Given the description of an element on the screen output the (x, y) to click on. 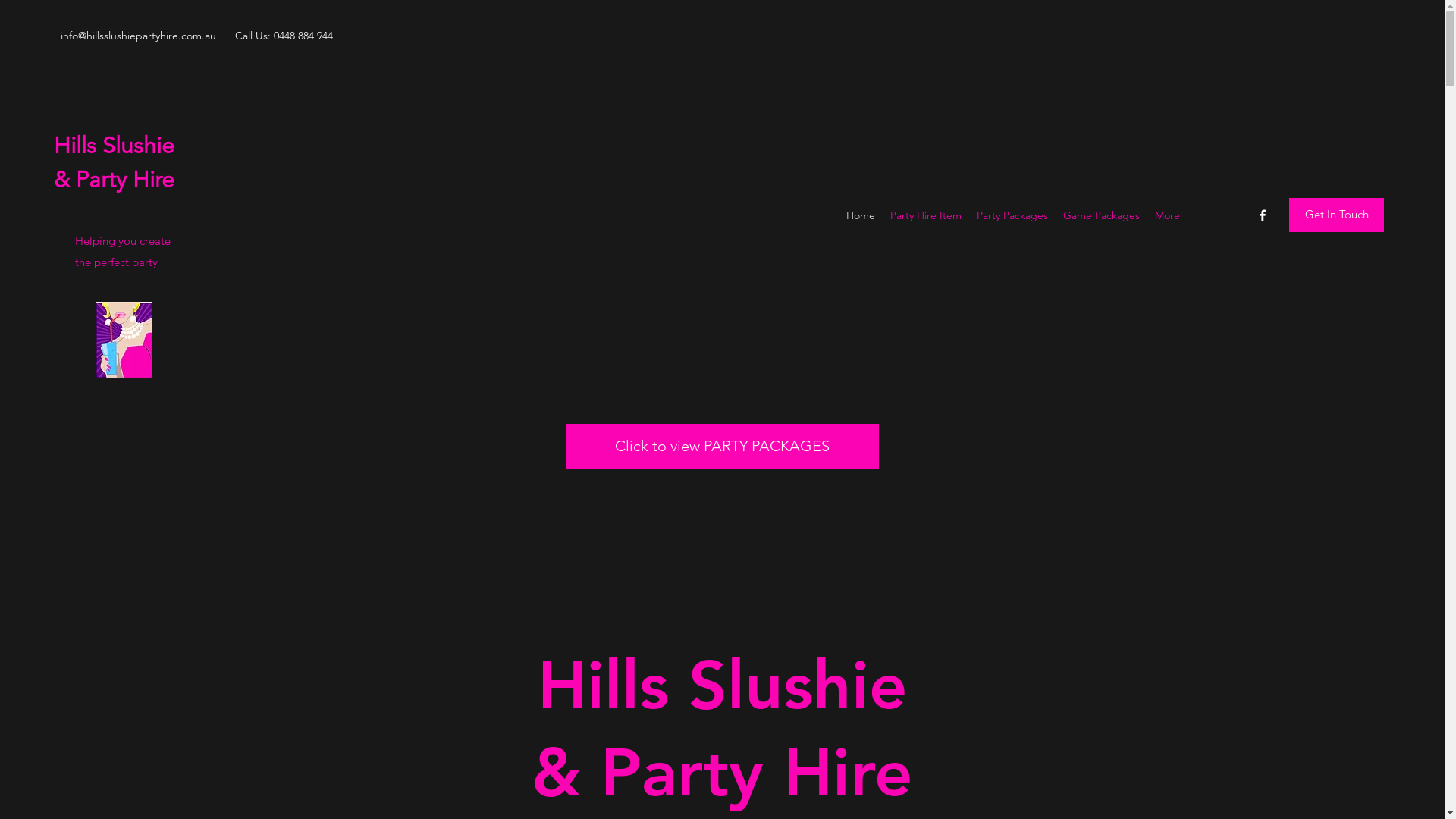
Game Packages Element type: text (1101, 214)
Click to view PARTY PACKAGES Element type: text (721, 446)
Home Element type: text (860, 214)
& Party Hire Element type: text (113, 179)
info@hillsslushiepartyhire.com.au Element type: text (138, 35)
Party Packages Element type: text (1012, 214)
Hills Slushie Element type: text (113, 145)
Party Hire Item Element type: text (925, 214)
Get In Touch Element type: text (1336, 214)
